Given the description of an element on the screen output the (x, y) to click on. 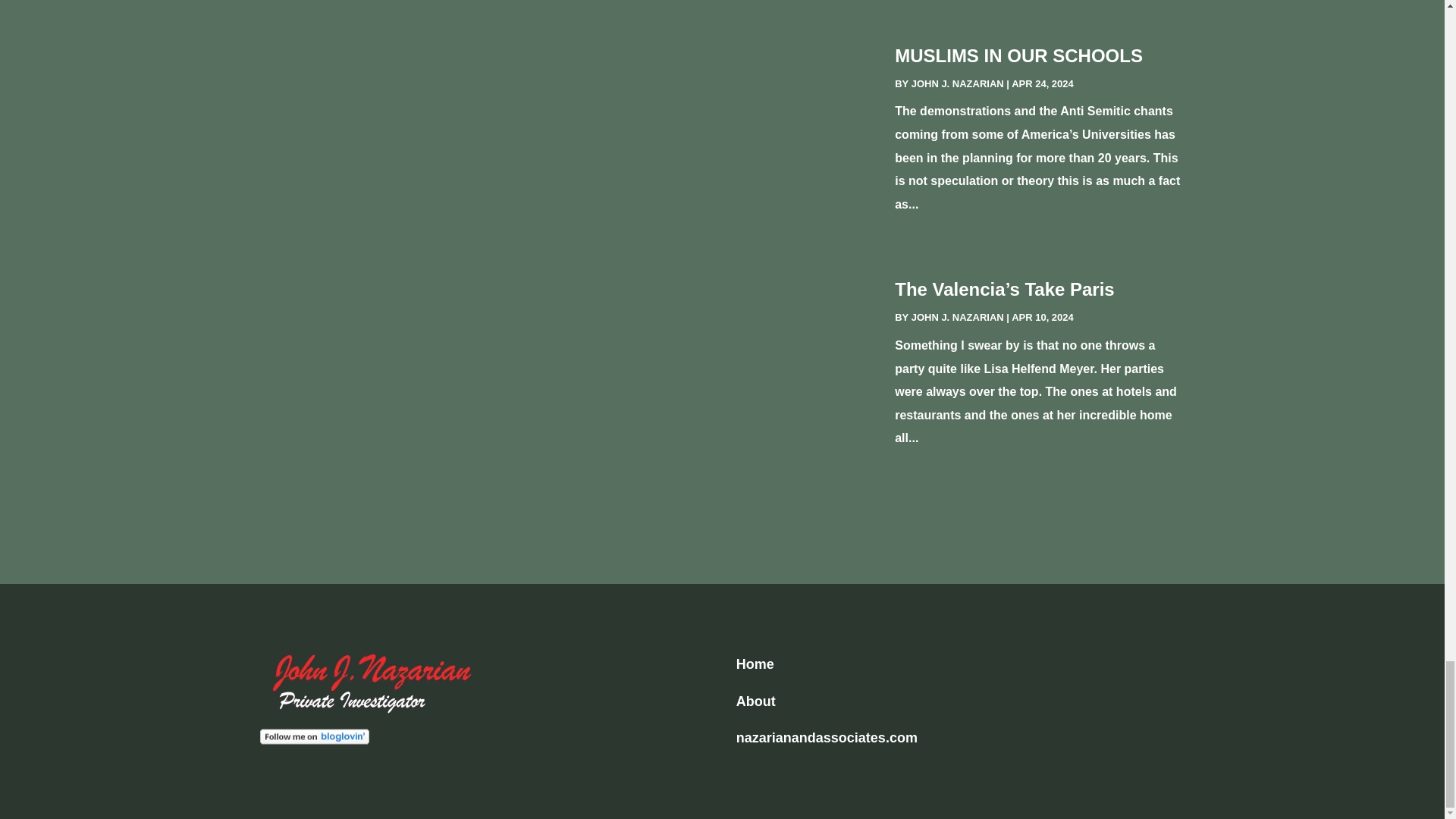
Home (755, 663)
Posts by John J. Nazarian (957, 317)
About (756, 701)
JOHN J. NAZARIAN (957, 317)
MUSLIMS IN OUR SCHOOLS (1018, 55)
nazarianandassociates.com (826, 737)
JOHN J. NAZARIAN (957, 83)
Posts by John J. Nazarian (957, 83)
